Given the description of an element on the screen output the (x, y) to click on. 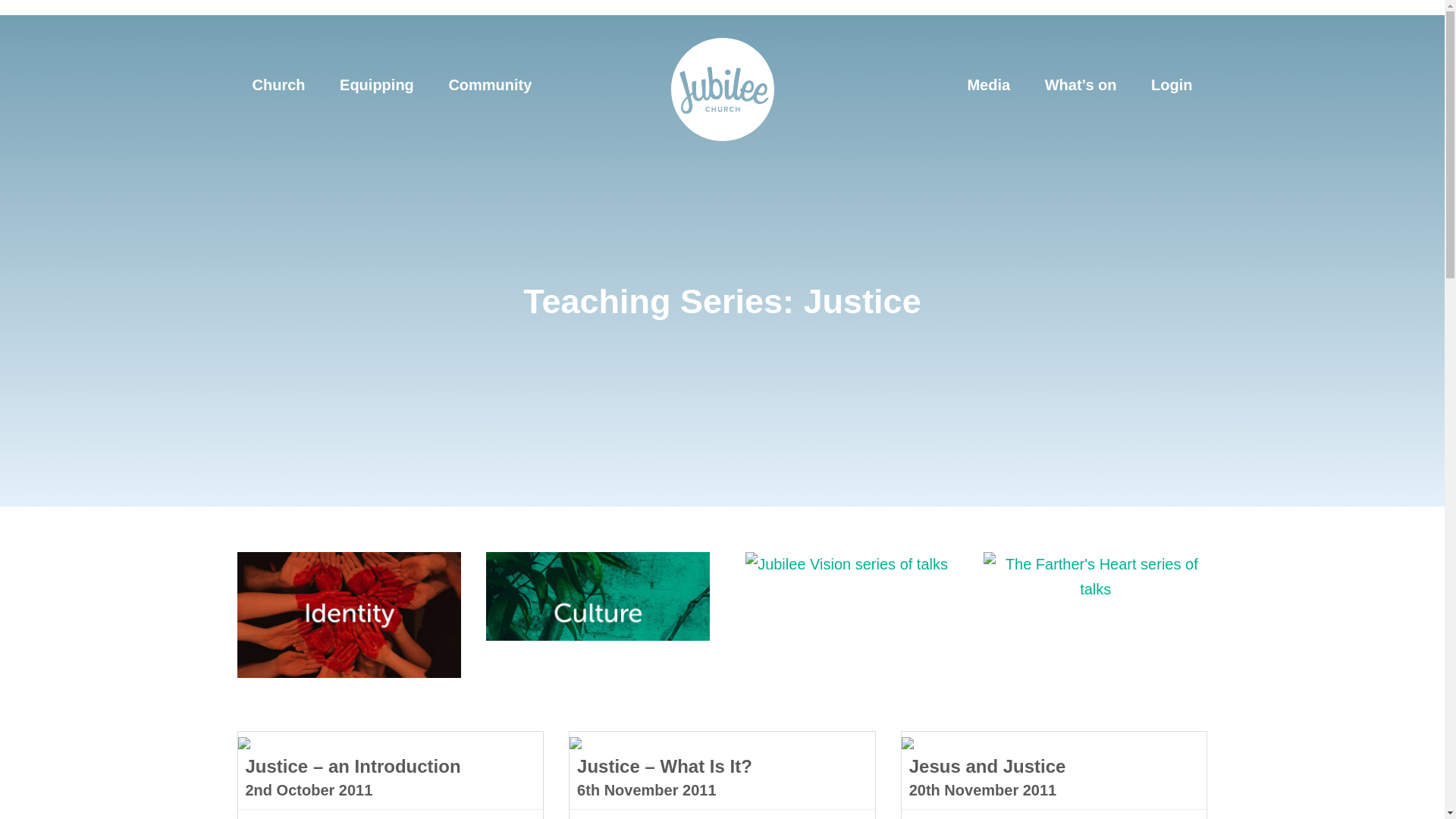
Jubilee Church Solihull (721, 88)
Media (988, 85)
Church (277, 85)
Equipping (376, 85)
Community (489, 85)
Login (1171, 85)
Jesus and Justice (986, 766)
